Given the description of an element on the screen output the (x, y) to click on. 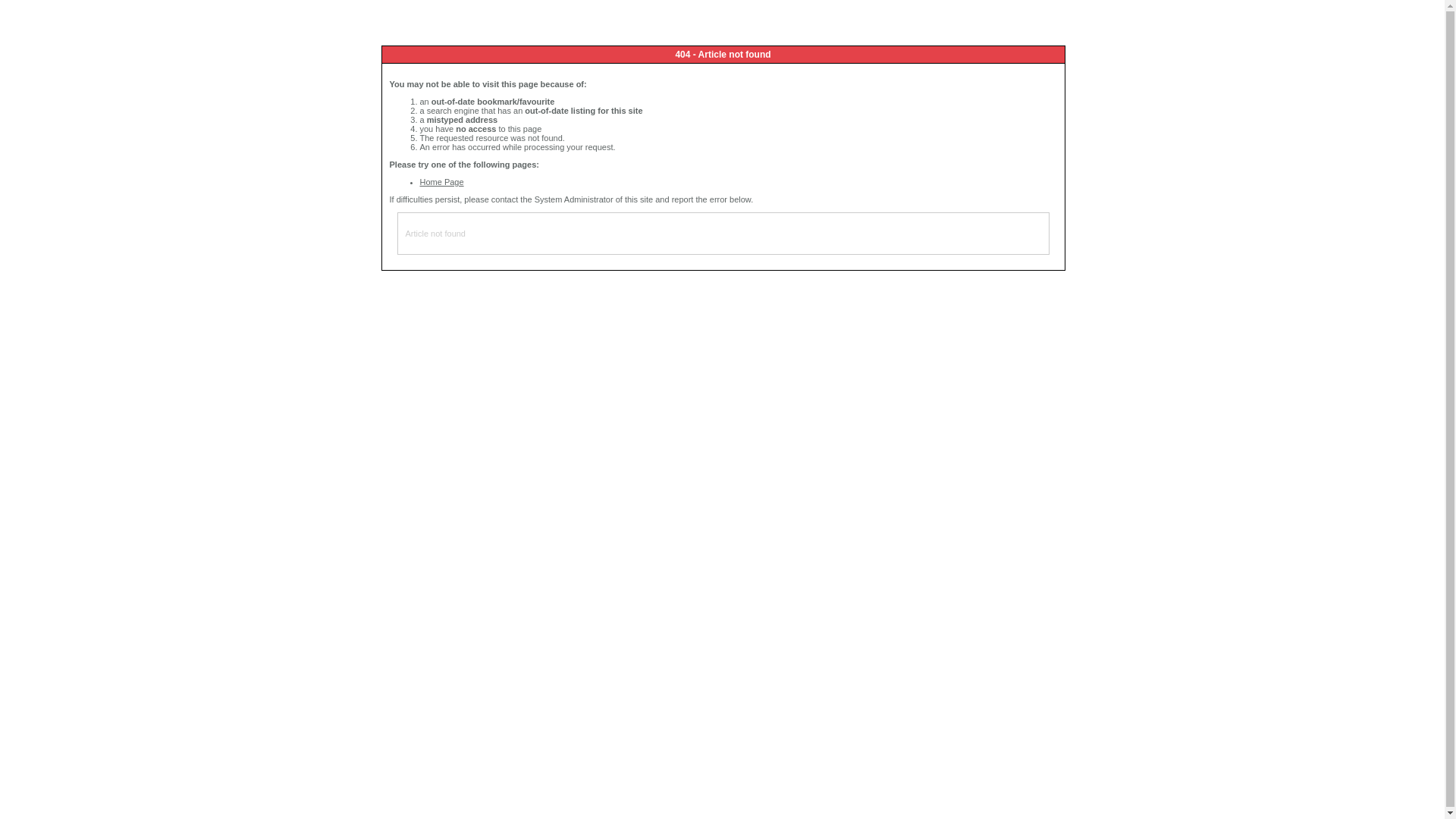
Home Page Element type: text (442, 181)
